Given the description of an element on the screen output the (x, y) to click on. 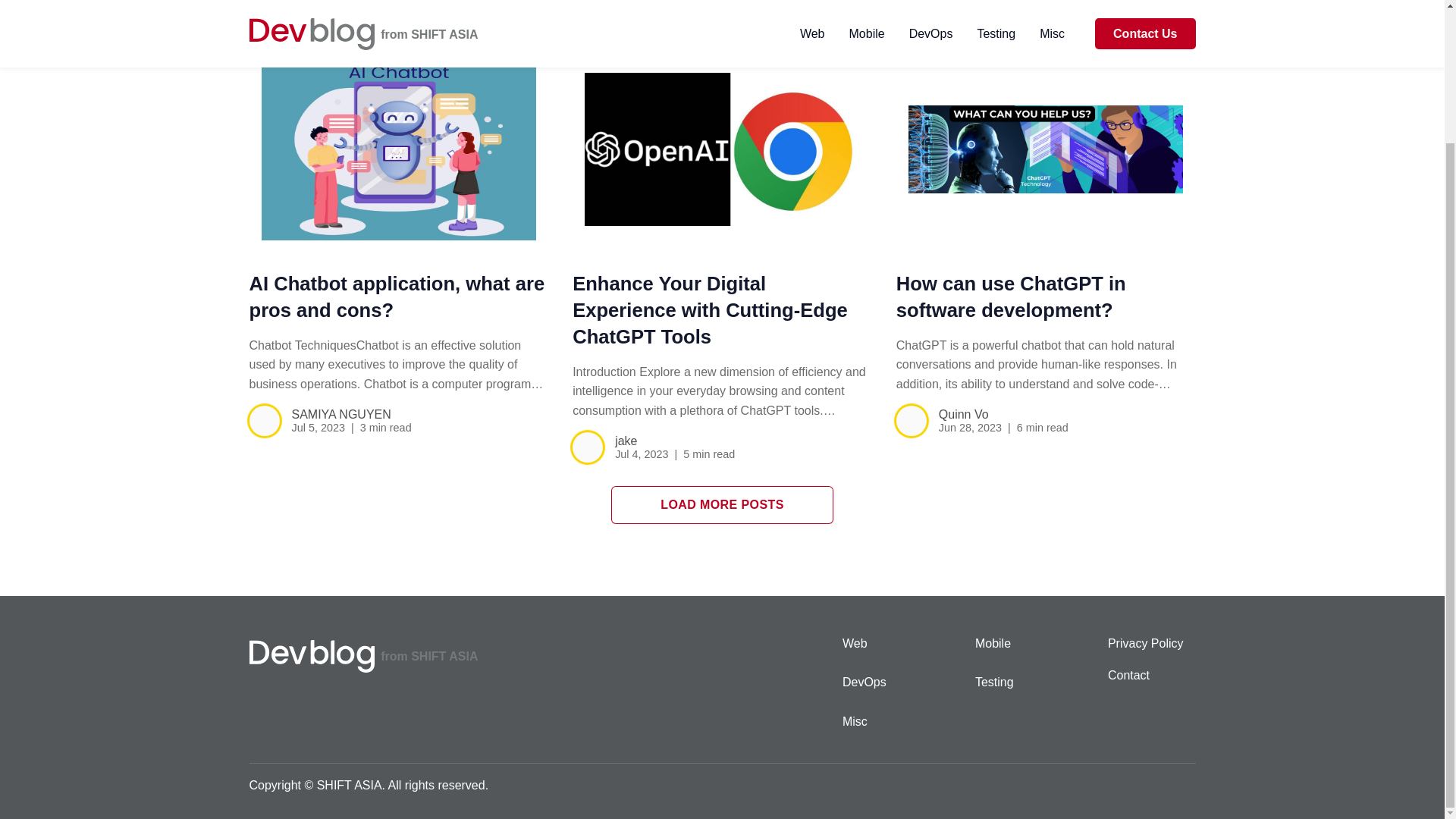
AI Chatbot application, what are pros and cons? (398, 149)
Twitter (1176, 784)
SAMIYA NGUYEN (340, 413)
jake (625, 440)
Facebook (1114, 784)
Mobile (1041, 652)
How can use ChatGPT in software development? (1010, 296)
How can use ChatGPT in software development? (1010, 296)
Quinn Vo (963, 413)
SHIFT ASIA (443, 656)
Web (909, 652)
AI Chatbot application, what are pros and cons? (396, 296)
LOAD MORE POSTS (721, 504)
